Given the description of an element on the screen output the (x, y) to click on. 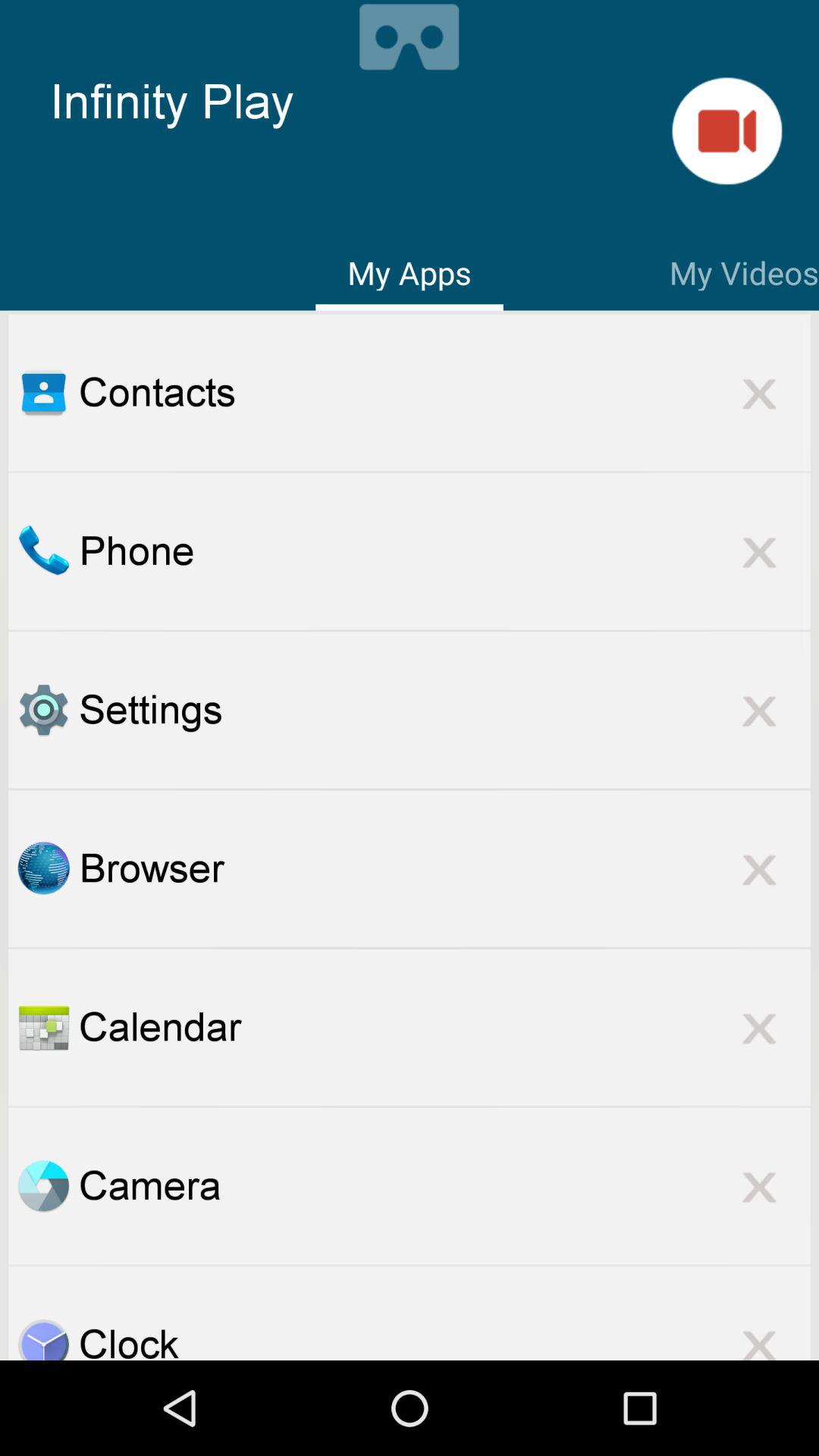
browser (43, 868)
